Given the description of an element on the screen output the (x, y) to click on. 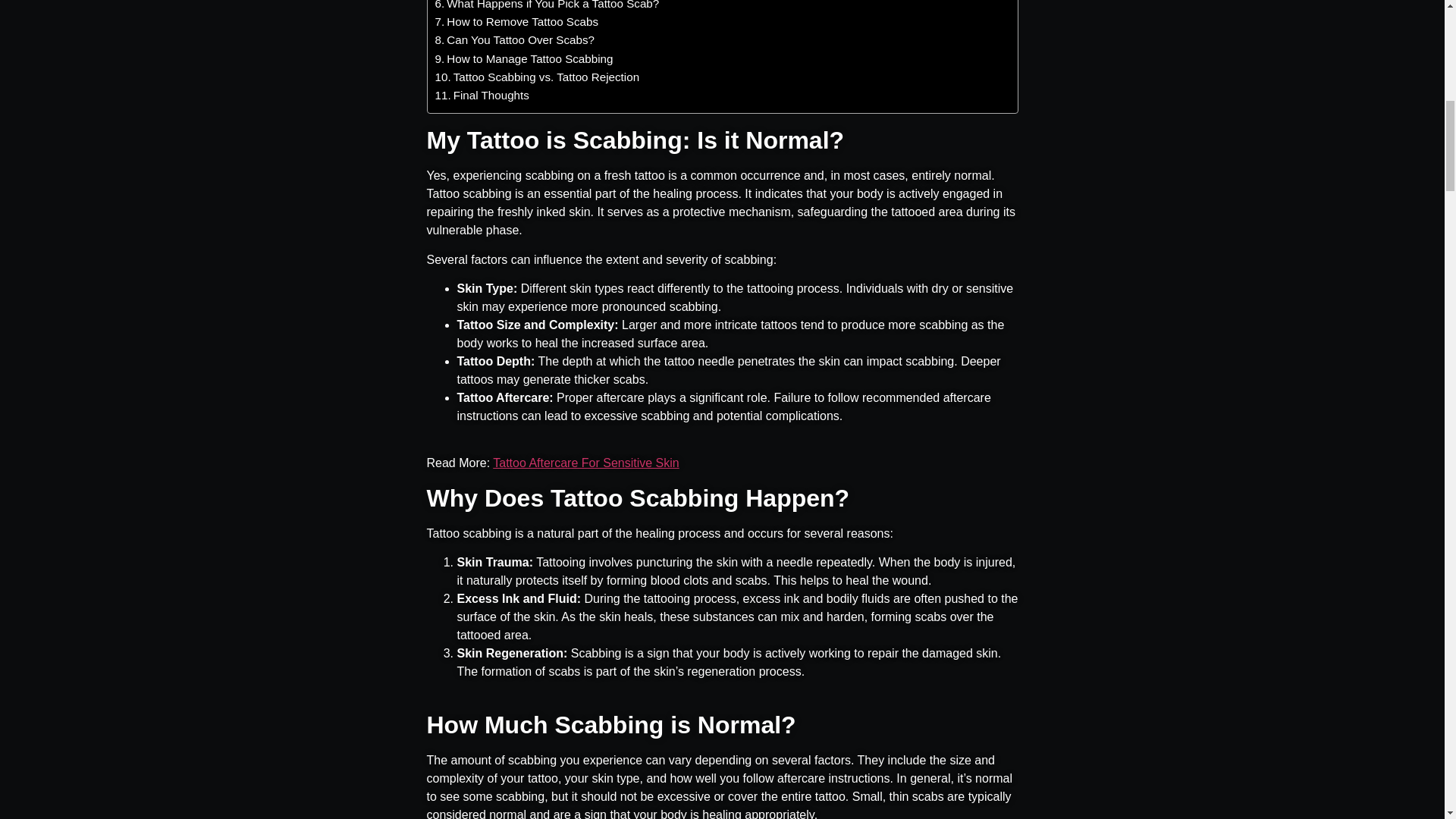
Can You Tattoo Over Scabs? (514, 40)
Tattoo Scabbing vs. Tattoo Rejection (537, 76)
What Happens if You Pick a Tattoo Scab? (547, 6)
How to Remove Tattoo Scabs (516, 22)
How to Manage Tattoo Scabbing (523, 58)
Final Thoughts (482, 95)
